Given the description of an element on the screen output the (x, y) to click on. 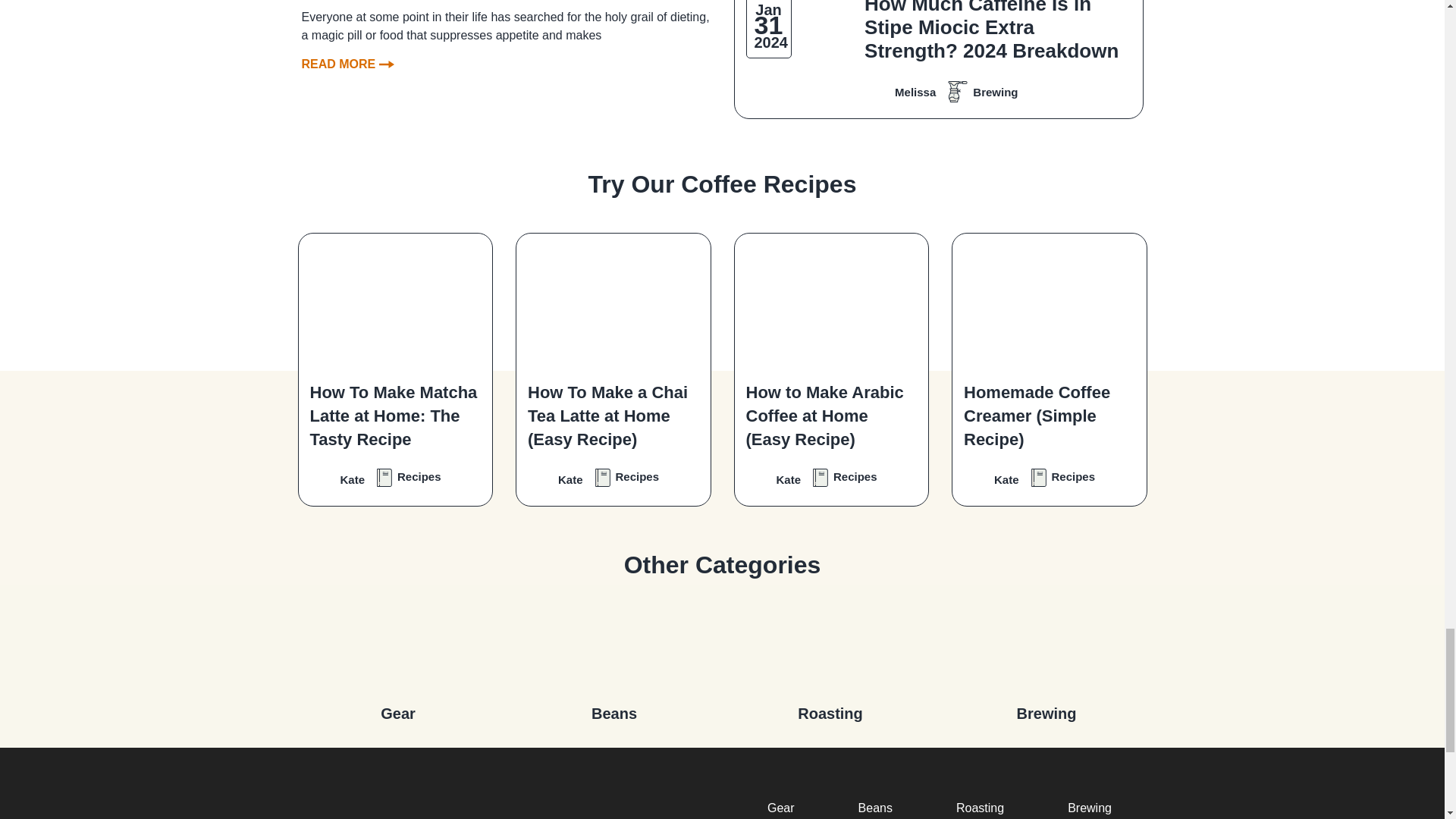
Roasting (829, 646)
Beans (614, 646)
Gear (397, 646)
Brewing (1046, 646)
